Given the description of an element on the screen output the (x, y) to click on. 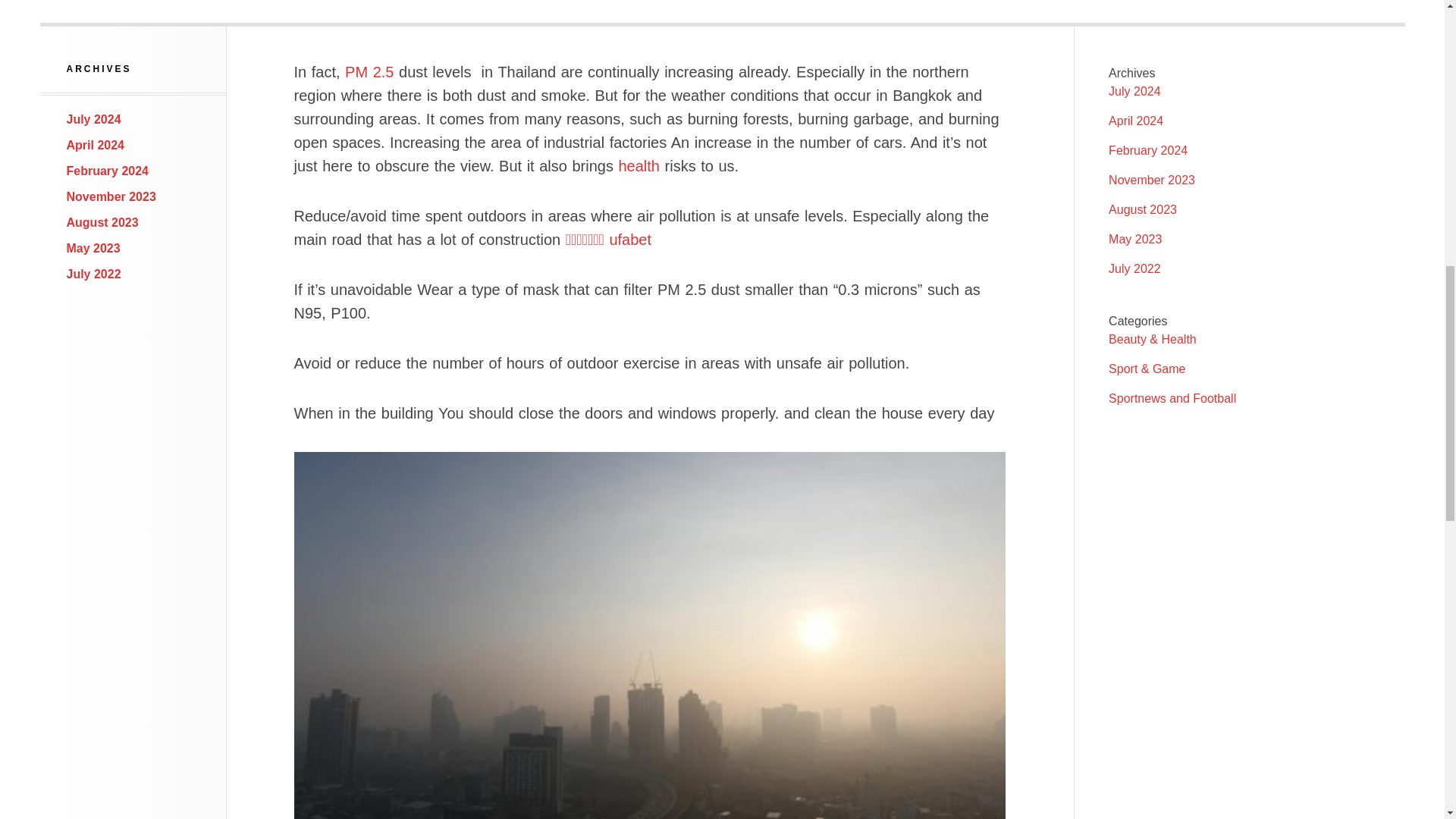
April 2024 (94, 144)
PM 2.5 (369, 71)
November 2023 (110, 196)
May 2023 (93, 247)
July 2024 (93, 119)
February 2024 (107, 170)
August 2023 (102, 222)
July 2022 (93, 273)
health  (641, 166)
